Given the description of an element on the screen output the (x, y) to click on. 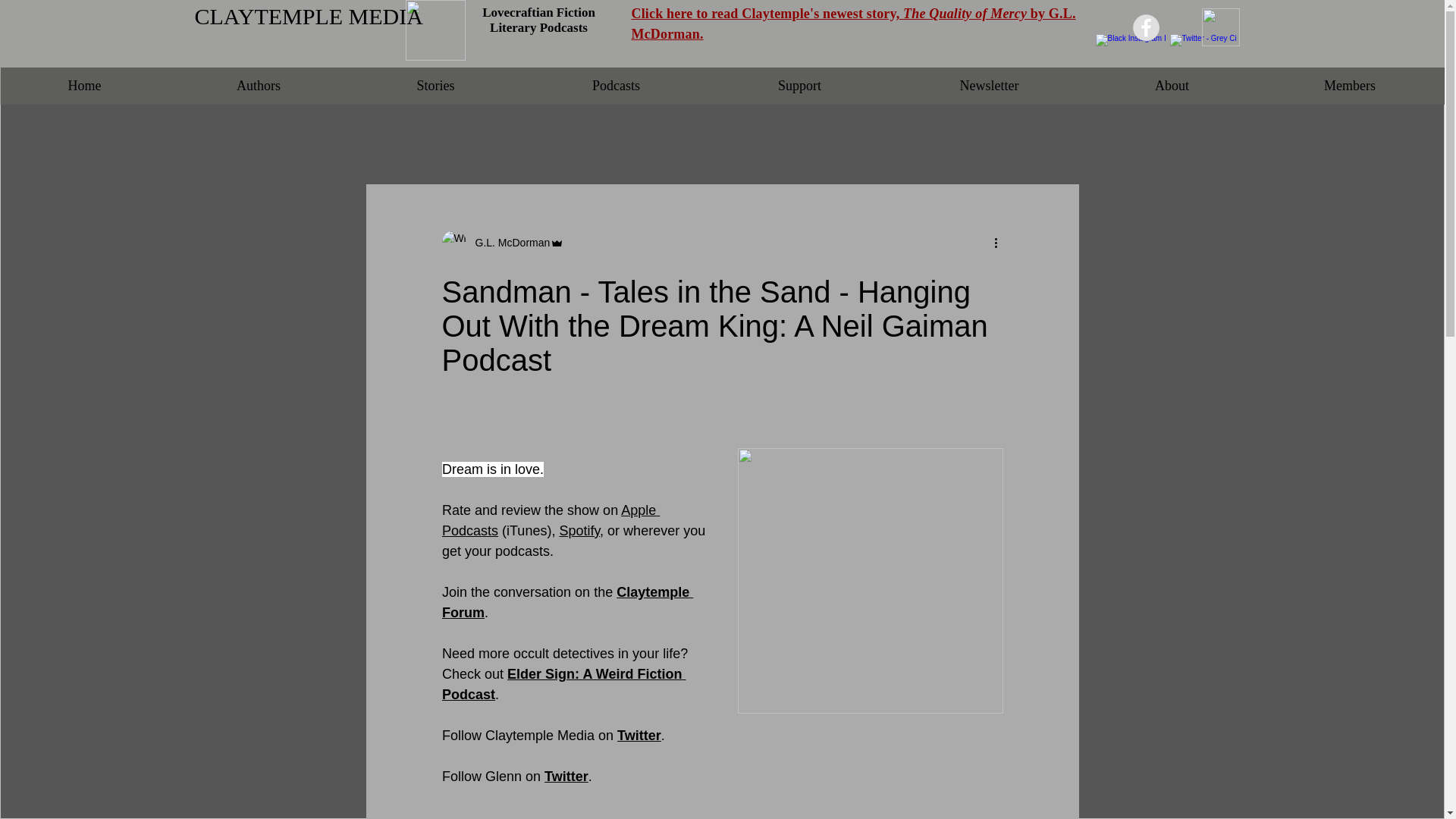
G.L. McDorman (507, 242)
Claytemple Forum (567, 601)
Elder Sign: A Weird Fiction Podcast (562, 683)
Stories (435, 85)
Newsletter (989, 85)
G.L. McDorman (502, 242)
Apple Podcasts (550, 520)
Twitter (566, 776)
Support (799, 85)
Spotify (579, 530)
Twitter (639, 735)
Home (84, 85)
